Given the description of an element on the screen output the (x, y) to click on. 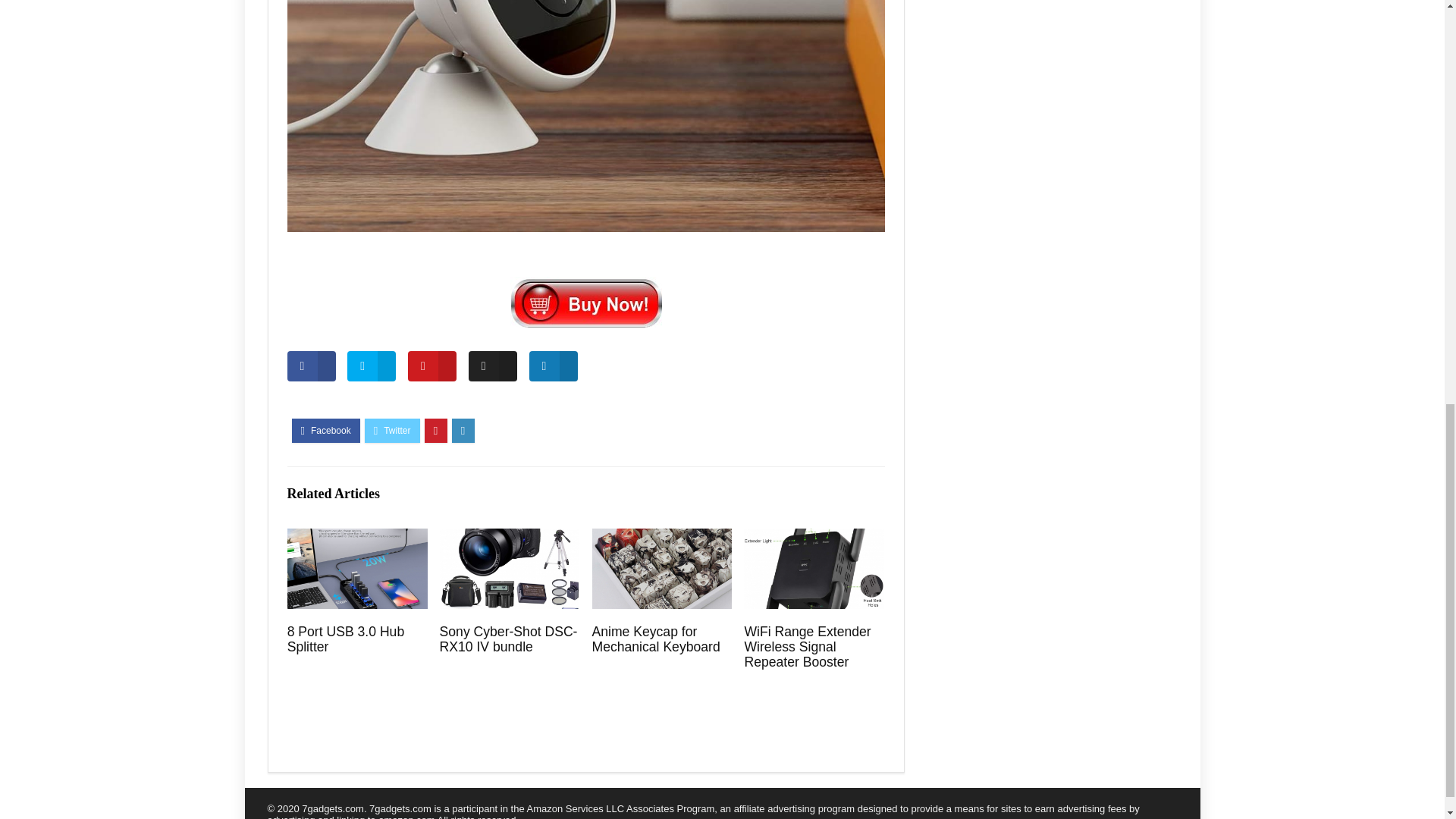
8 Port USB 3.0 Hub Splitter (345, 639)
Buy now! (585, 301)
Anime Keycap for Mechanical Keyboard (655, 639)
WiFi Range Extender Wireless Signal Repeater Booster (807, 646)
Sony Cyber-Shot DSC-RX10 IV bundle (508, 639)
